Given the description of an element on the screen output the (x, y) to click on. 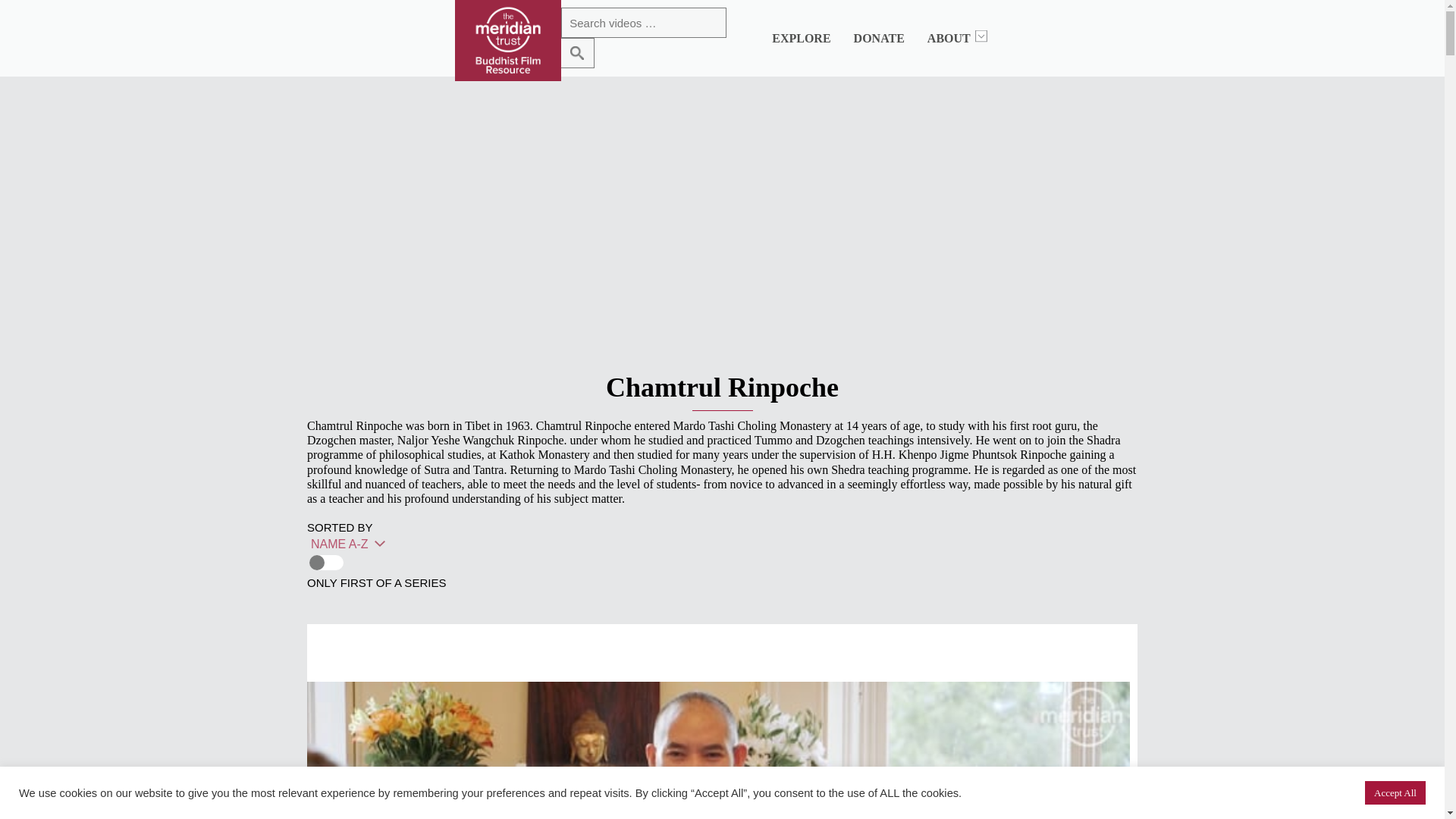
EXPLORE (800, 38)
Submit (577, 52)
ABOUT (949, 38)
DONATE (878, 38)
Submit (577, 52)
